Given the description of an element on the screen output the (x, y) to click on. 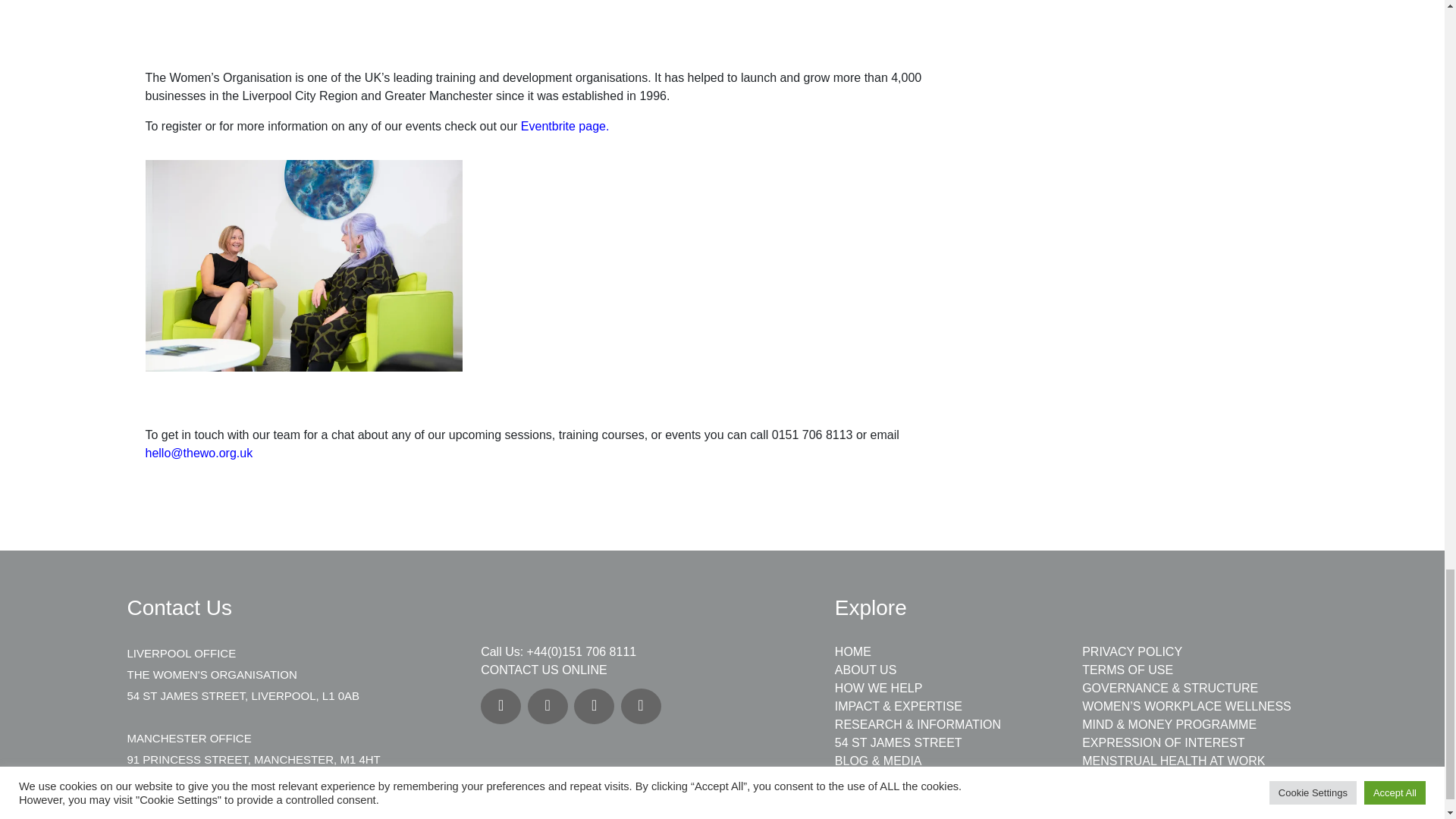
Eventbrite page. (565, 125)
